Given the description of an element on the screen output the (x, y) to click on. 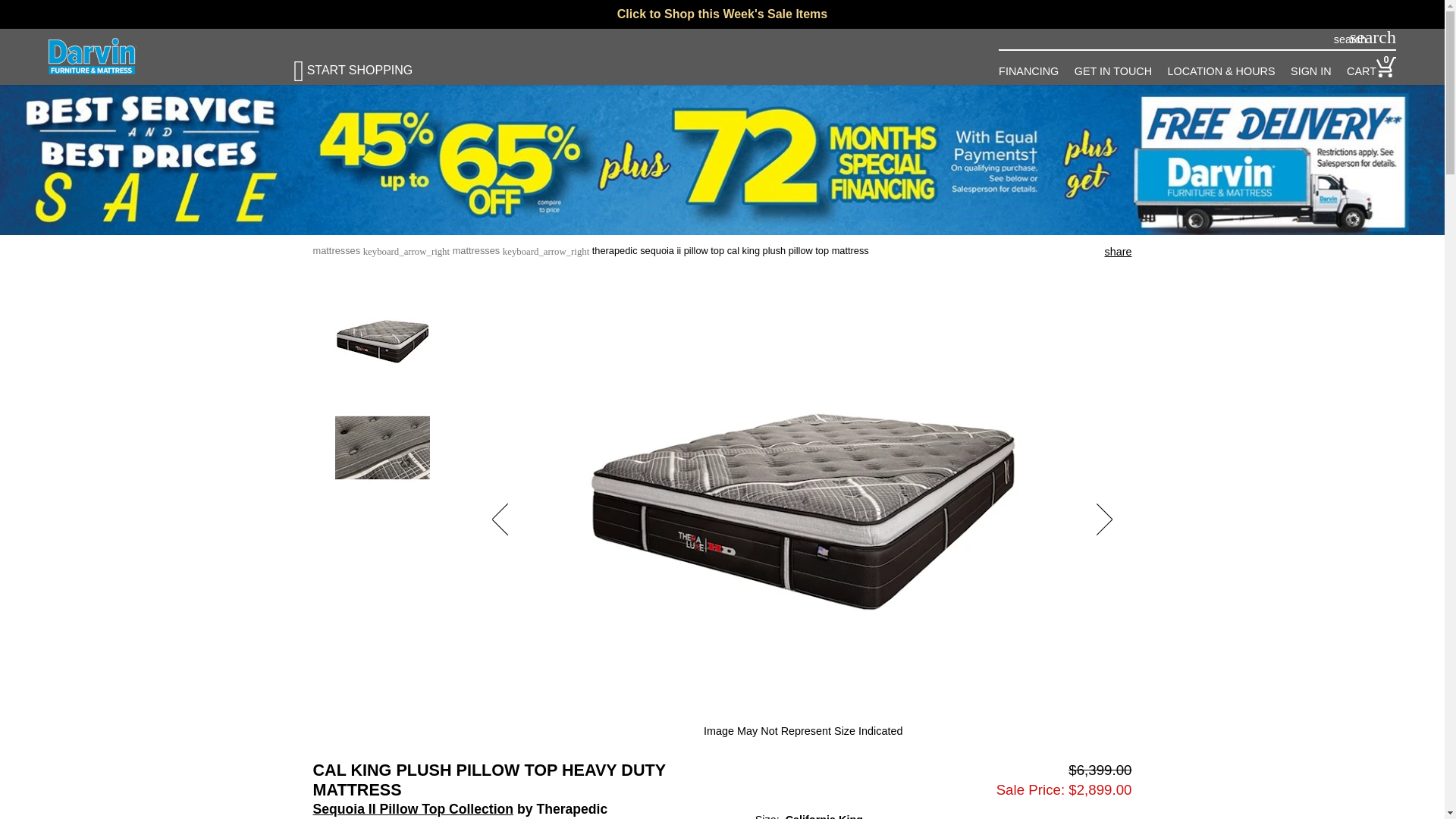
START SHOPPING (366, 63)
Click to Shop this Week's Sale Items (722, 13)
